Given the description of an element on the screen output the (x, y) to click on. 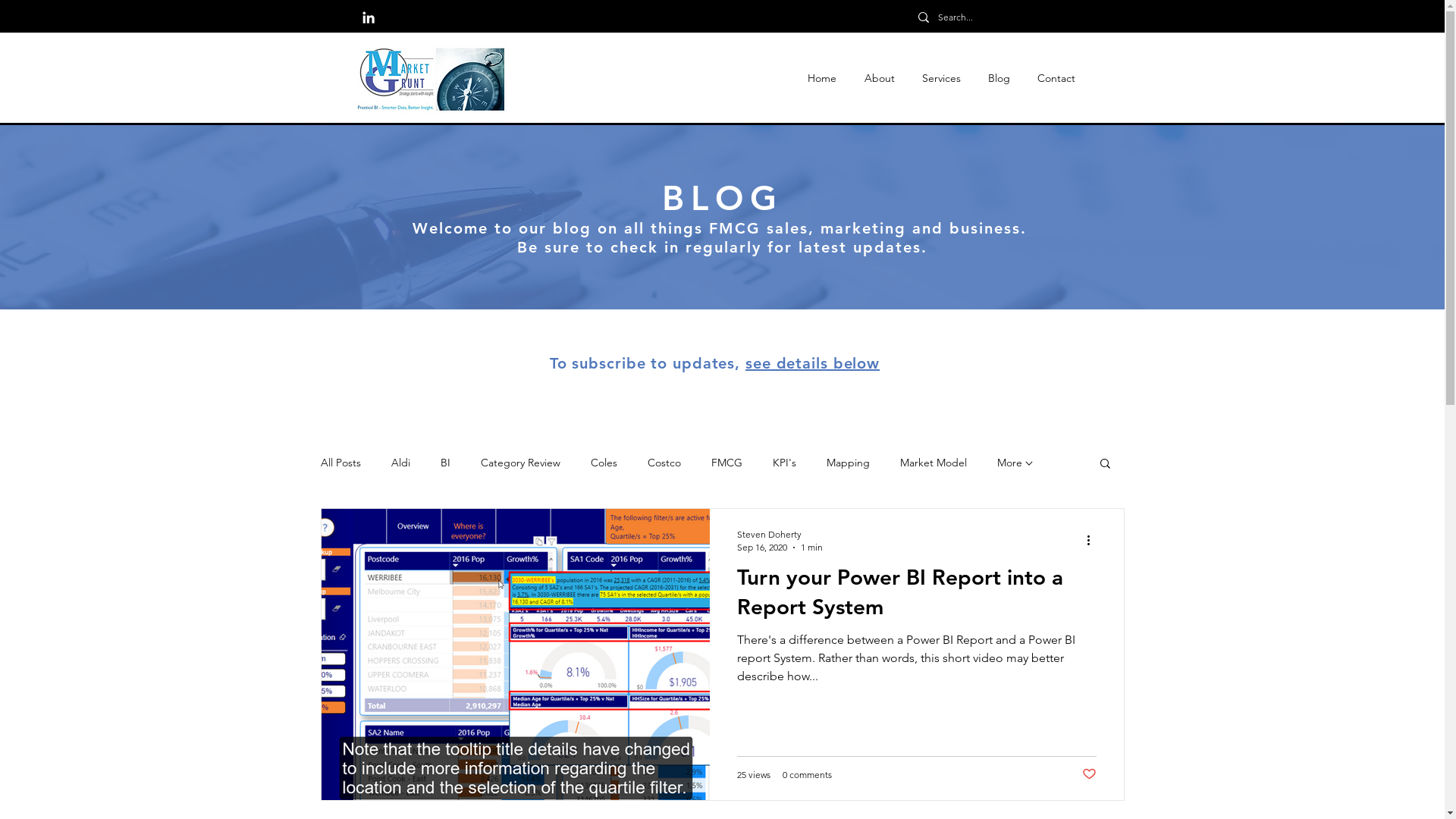
About Element type: text (879, 78)
KPI's Element type: text (783, 462)
Blog Element type: text (997, 78)
Contact Element type: text (1055, 78)
FMCG Element type: text (726, 462)
All Posts Element type: text (340, 462)
BI Element type: text (444, 462)
Home Element type: text (821, 78)
Aldi Element type: text (400, 462)
Post not marked as liked Element type: text (1088, 774)
Services Element type: text (941, 78)
see details below Element type: text (812, 363)
Mapping Element type: text (847, 462)
Coles Element type: text (602, 462)
Category Review Element type: text (520, 462)
Turn your Power BI Report into a Report System Element type: text (916, 595)
Market Model Element type: text (932, 462)
Costco Element type: text (663, 462)
0 comments Element type: text (806, 774)
